Given the description of an element on the screen output the (x, y) to click on. 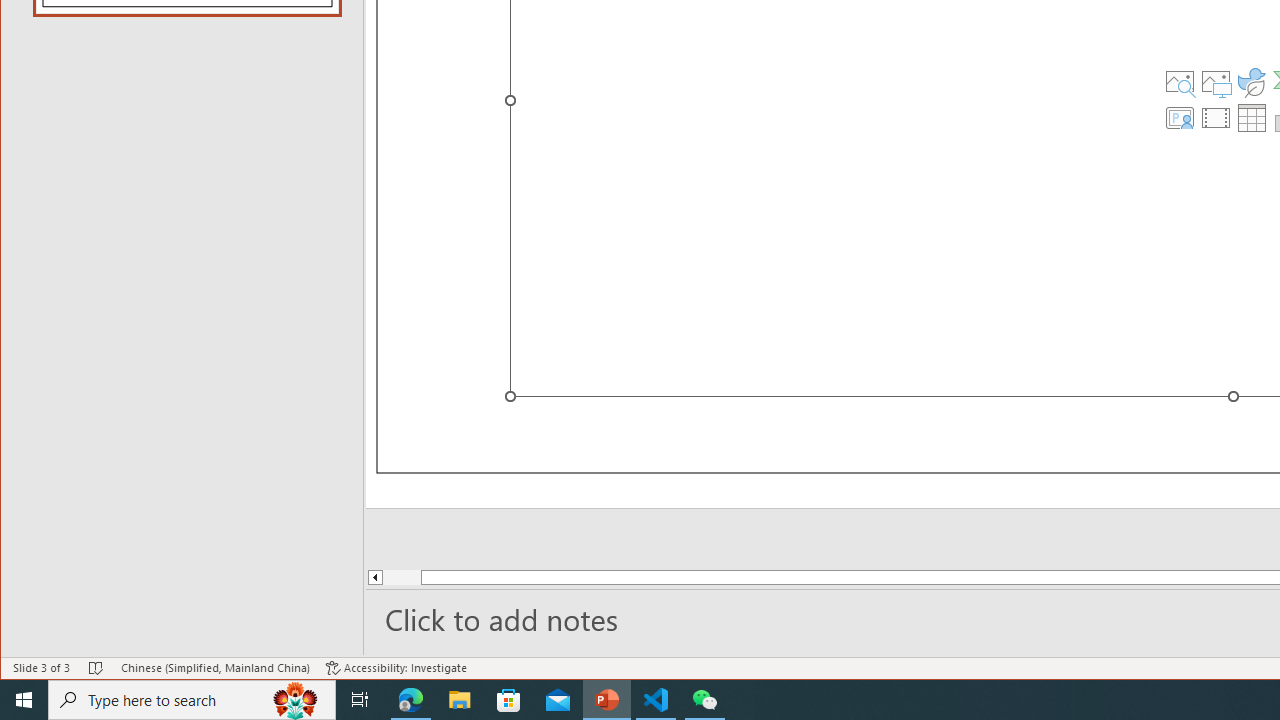
Insert Cameo (1179, 117)
Insert an Icon (1252, 81)
WeChat - 1 running window (704, 699)
Stock Images (1179, 81)
Insert Video (1215, 117)
